Given the description of an element on the screen output the (x, y) to click on. 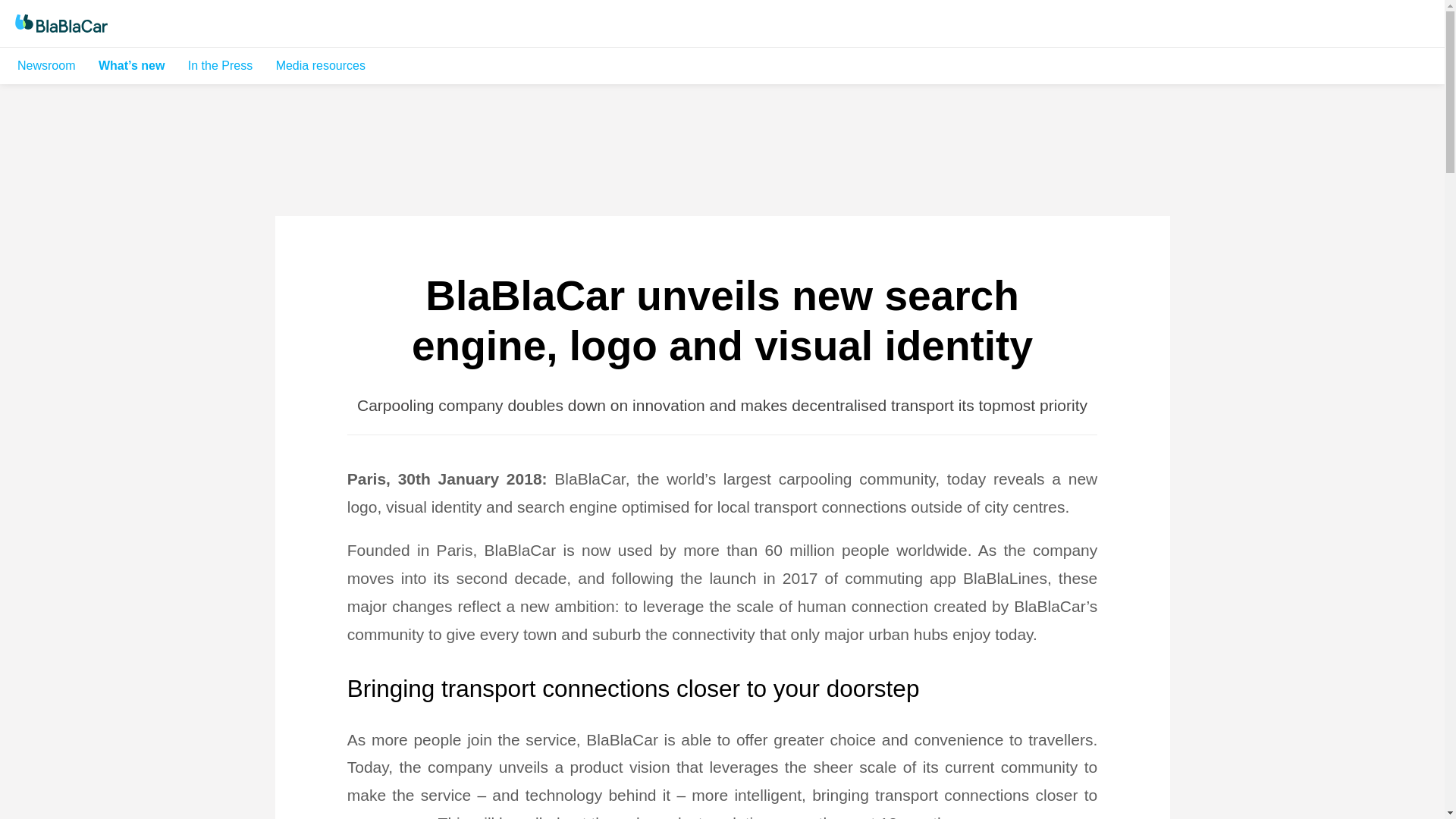
Newsroom (45, 65)
Media resources (320, 65)
In the Press (219, 65)
BlaBlaCar (92, 23)
